Given the description of an element on the screen output the (x, y) to click on. 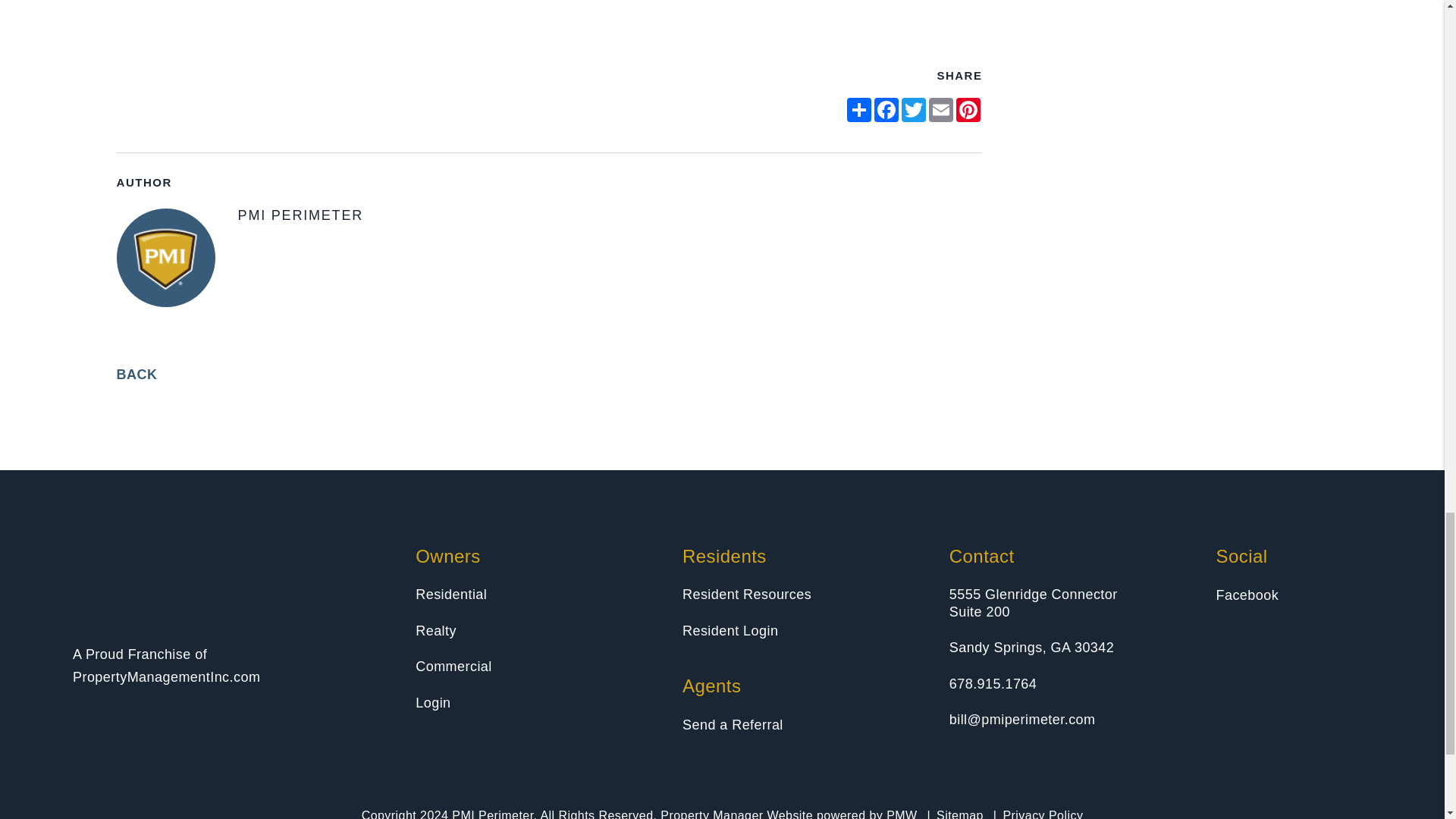
opens in new window (885, 109)
opens in new window (941, 109)
opens in new window (858, 109)
opens in new window (913, 109)
opens in new window (968, 109)
